Given the description of an element on the screen output the (x, y) to click on. 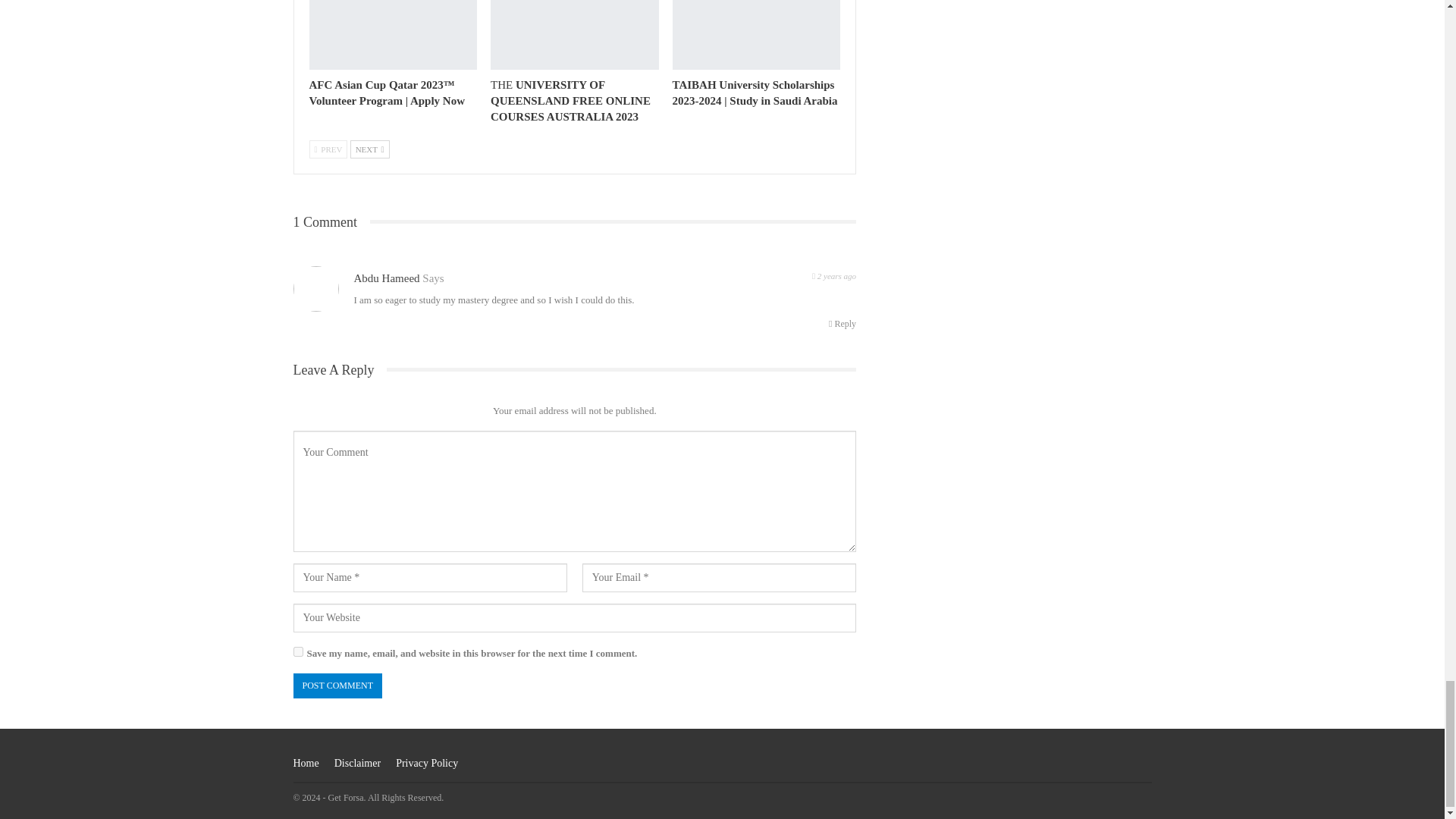
Previous (327, 149)
Next (370, 149)
Post Comment (336, 685)
Wednesday, April 13, 2022, 11:28 pm (834, 274)
yes (297, 651)
